Given the description of an element on the screen output the (x, y) to click on. 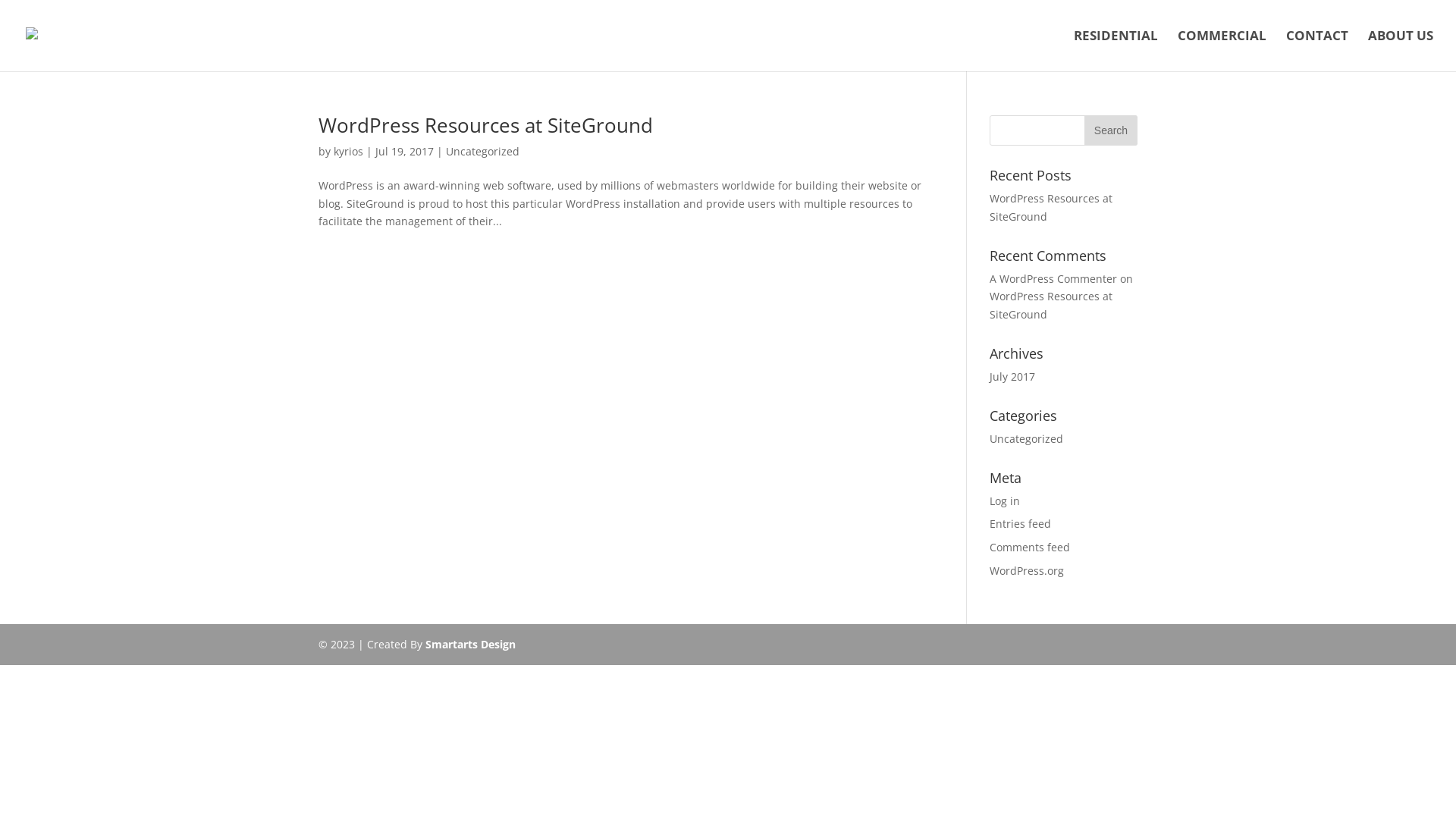
CONTACT Element type: text (1317, 50)
Log in Element type: text (1004, 500)
WordPress Resources at SiteGround Element type: text (1050, 304)
Search Element type: text (1110, 130)
Uncategorized Element type: text (1026, 438)
Comments feed Element type: text (1029, 546)
Smartarts Design Element type: text (470, 644)
COMMERCIAL Element type: text (1221, 50)
ABOUT US Element type: text (1400, 50)
WordPress.org Element type: text (1026, 570)
RESIDENTIAL Element type: text (1115, 50)
A WordPress Commenter Element type: text (1053, 278)
WordPress Resources at SiteGround Element type: text (485, 124)
Entries feed Element type: text (1020, 523)
WordPress Resources at SiteGround Element type: text (1050, 207)
kyrios Element type: text (348, 151)
Uncategorized Element type: text (482, 151)
July 2017 Element type: text (1012, 376)
